Given the description of an element on the screen output the (x, y) to click on. 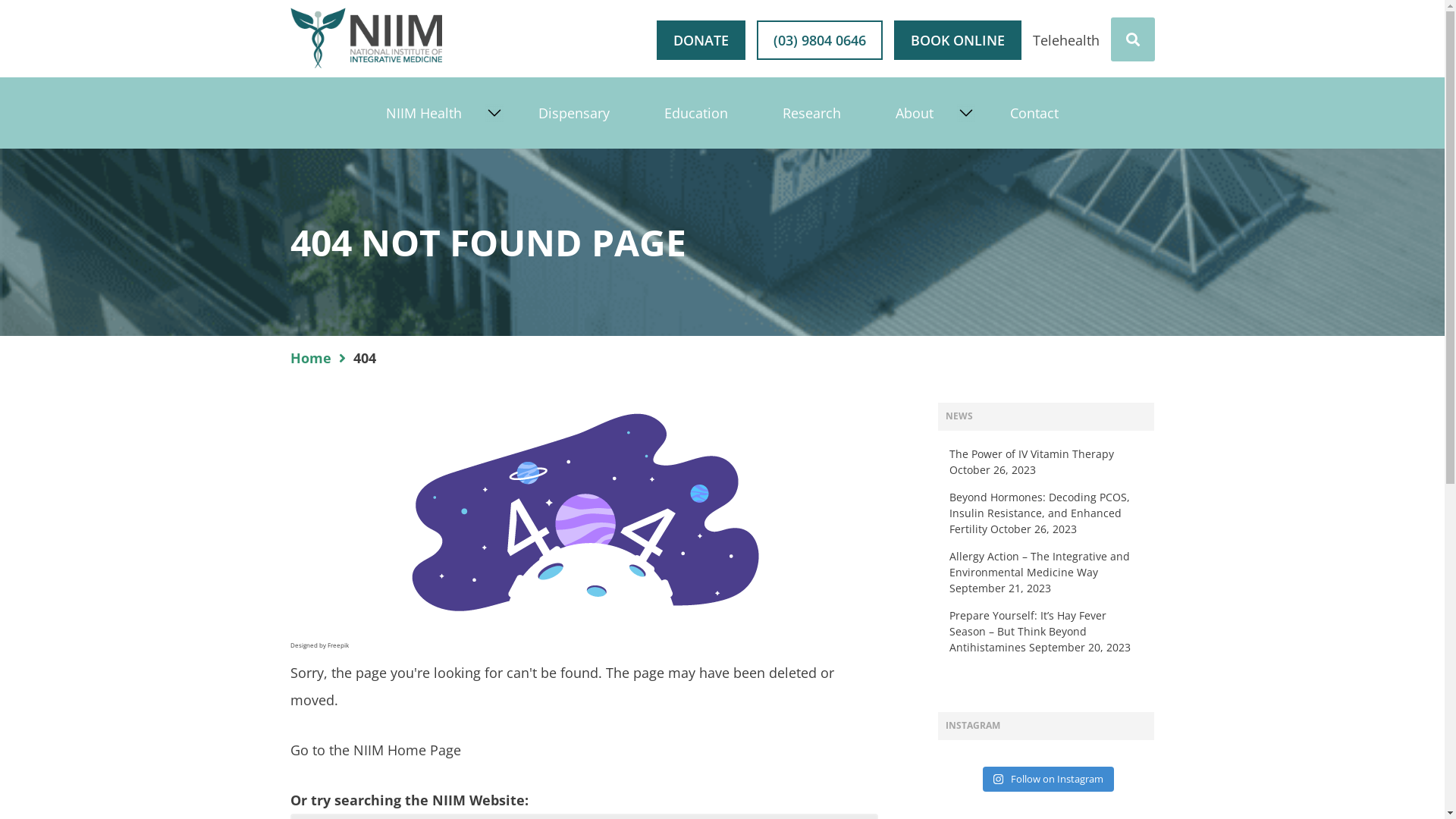
Education Element type: text (695, 112)
(03) 9804 0646 Element type: text (819, 39)
DONATE Element type: text (700, 39)
Research Element type: text (811, 112)
About Element type: text (914, 112)
Telehealth Element type: text (1065, 40)
Dispensary Element type: text (573, 112)
search Element type: text (20, 8)
Designed by Freepik Element type: text (318, 644)
Home Element type: text (320, 357)
Contact Element type: text (1034, 112)
Follow on Instagram Element type: text (1047, 779)
BOOK ONLINE Element type: text (956, 39)
NIIM Health Element type: text (423, 112)
The Power of IV Vitamin Therapy  Element type: text (1033, 453)
Go to the NIIM Home Page Element type: text (374, 749)
